Given the description of an element on the screen output the (x, y) to click on. 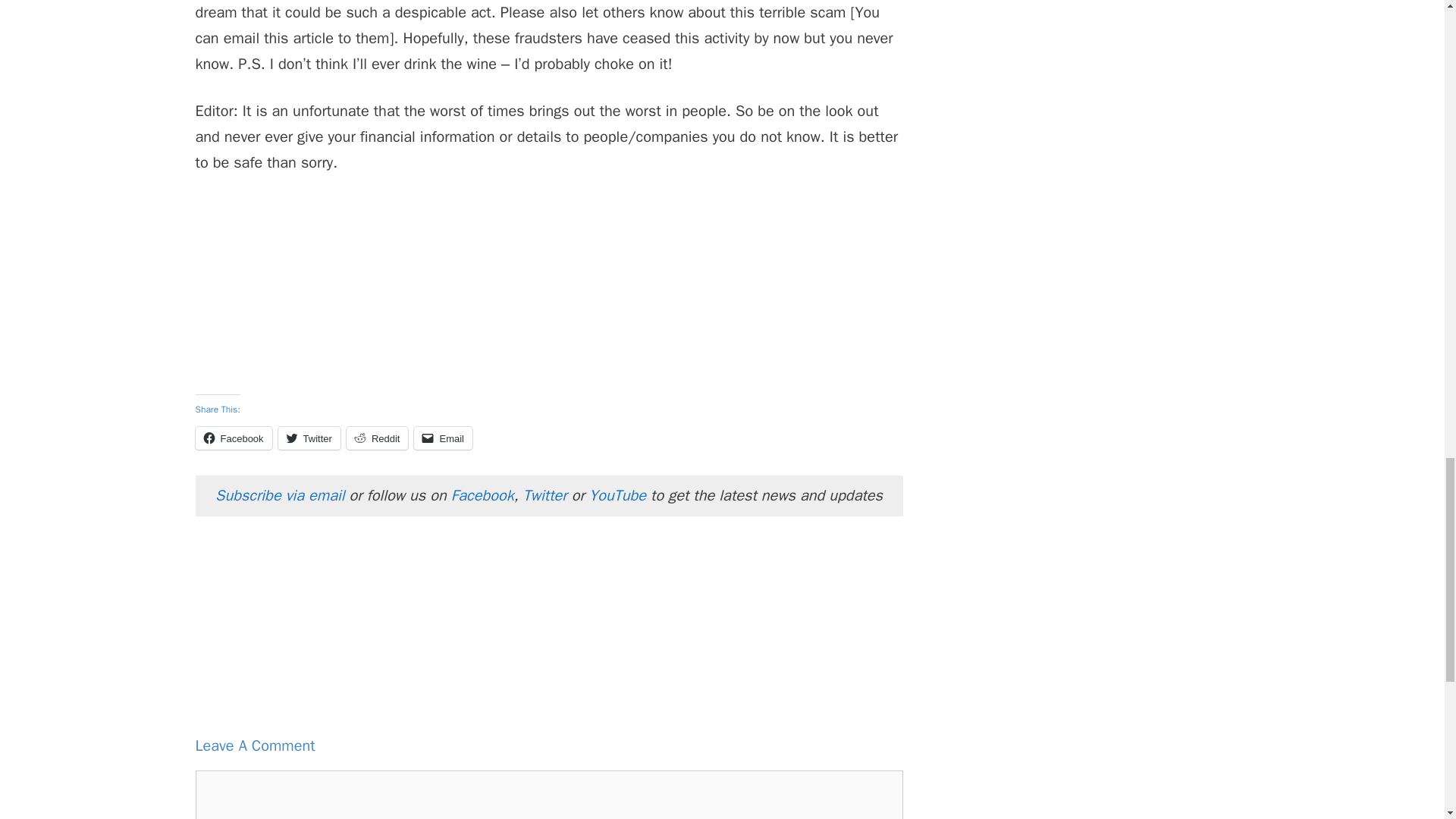
Click to share on Reddit (377, 437)
Subscribe via email (282, 495)
Facebook (233, 437)
Twitter (309, 437)
Click to share on Facebook (233, 437)
Reddit (377, 437)
Email (442, 437)
YouTube (617, 495)
Twitter (544, 495)
Click to email a link to a friend (442, 437)
